Given the description of an element on the screen output the (x, y) to click on. 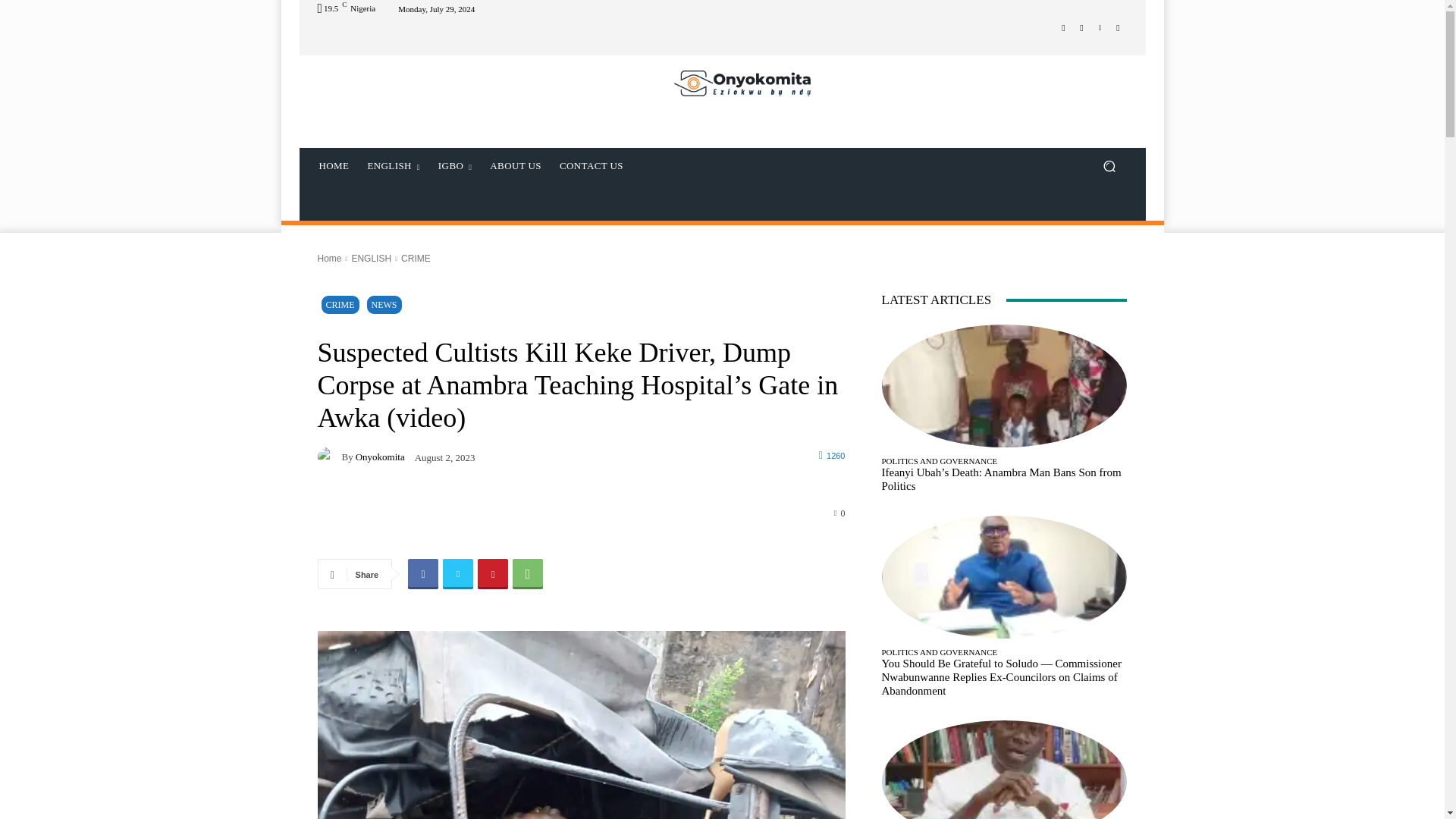
onyokomita (328, 456)
HOME (333, 166)
ENGLISH (393, 166)
Youtube (1117, 27)
View all posts in ENGLISH (370, 258)
View all posts in CRIME (415, 258)
Instagram (1080, 27)
Facebook (1062, 27)
Twitter (1099, 27)
Twitter (457, 573)
Facebook (422, 573)
